Given the description of an element on the screen output the (x, y) to click on. 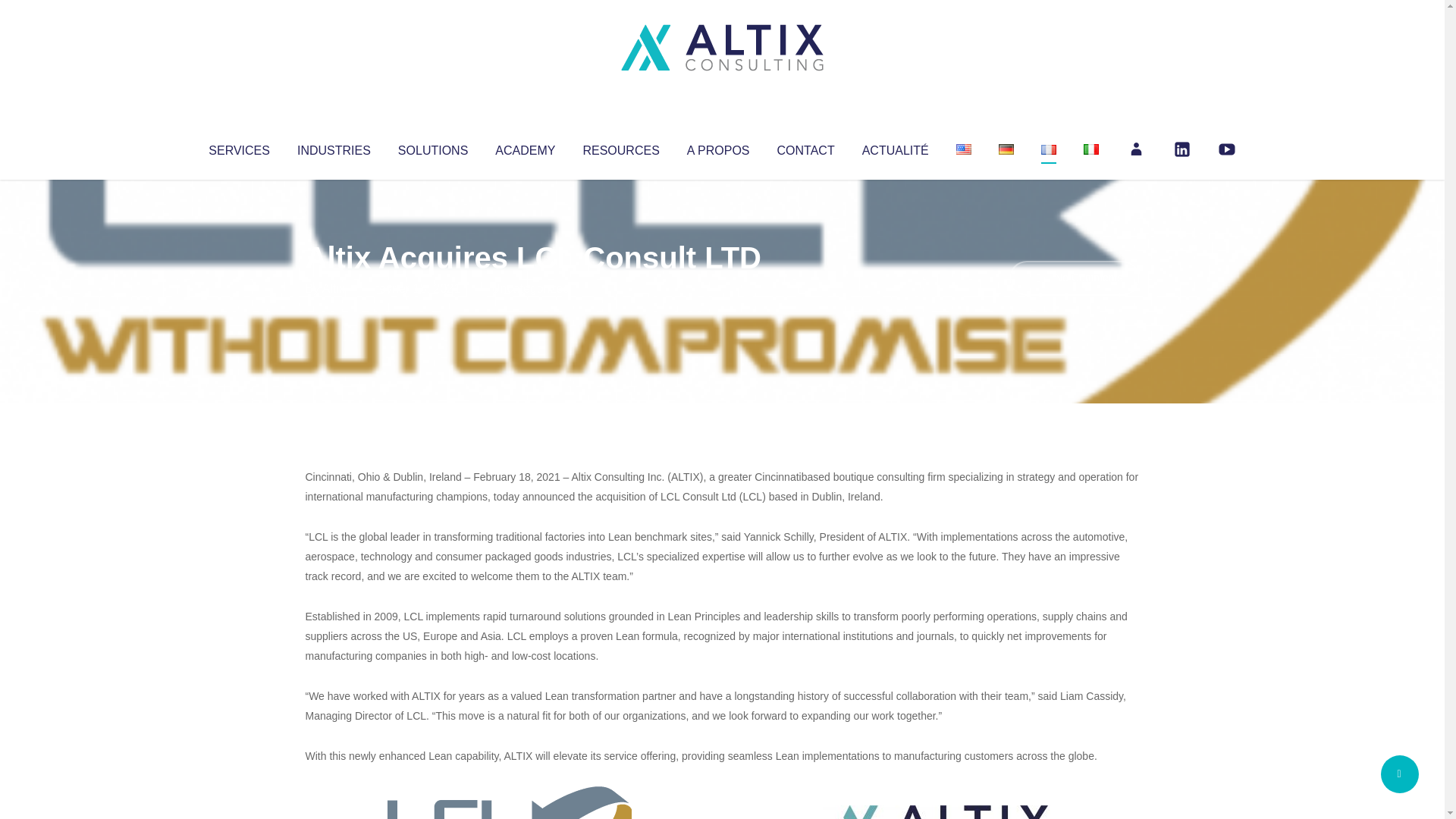
Articles par Altix (333, 287)
A PROPOS (718, 146)
SERVICES (238, 146)
No Comments (1073, 278)
INDUSTRIES (334, 146)
RESOURCES (620, 146)
Altix (333, 287)
SOLUTIONS (432, 146)
ACADEMY (524, 146)
Uncategorized (530, 287)
